Given the description of an element on the screen output the (x, y) to click on. 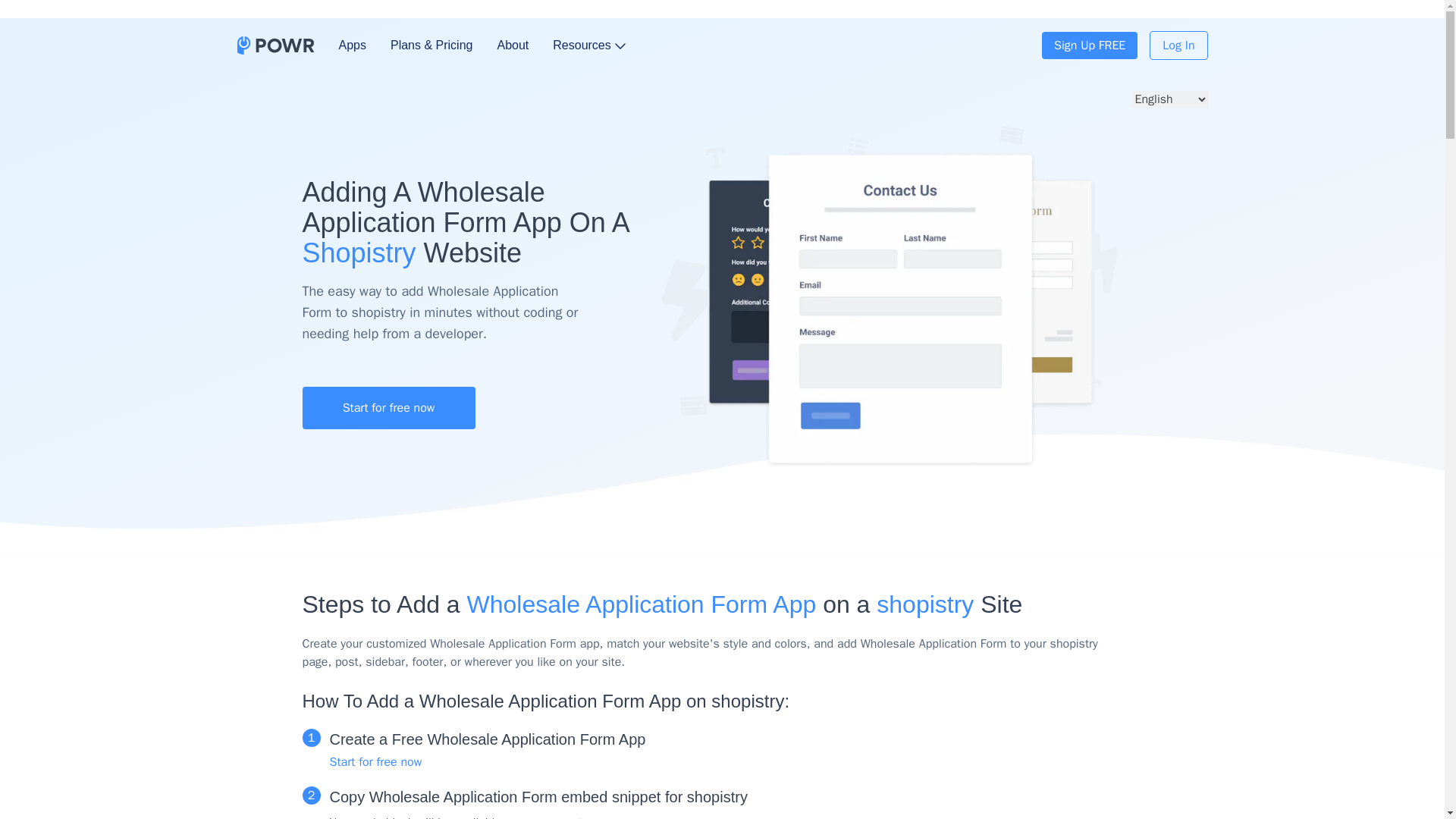
Start for free now (375, 760)
Apps (351, 45)
Sign Up FREE (1089, 44)
Start for free now (387, 407)
About (512, 45)
Log In (1178, 45)
